Given the description of an element on the screen output the (x, y) to click on. 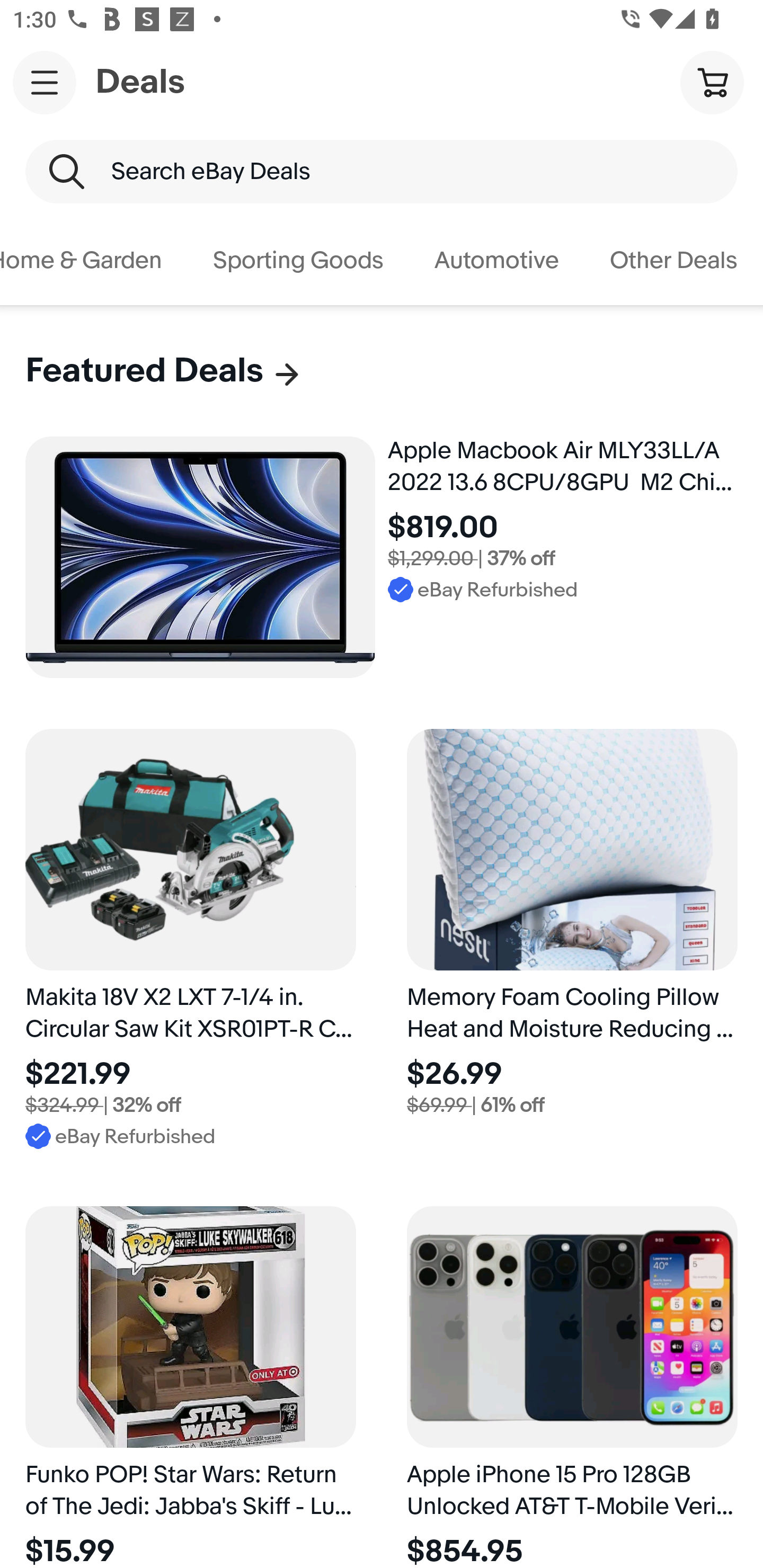
Main navigation, open (44, 82)
Cart button shopping cart (711, 81)
Search eBay Deals Search Keyword Search eBay Deals (381, 171)
Home & Garden. Button. 4 of 7. Home & Garden (93, 260)
Sporting Goods. Button. 5 of 7. Sporting Goods (297, 260)
Automotive. Button. 6 of 7. Automotive (496, 260)
Other Deals. Button. 7 of 7. Other Deals (673, 260)
Featured Deals   Featured Deals,7 items (163, 370)
